Given the description of an element on the screen output the (x, y) to click on. 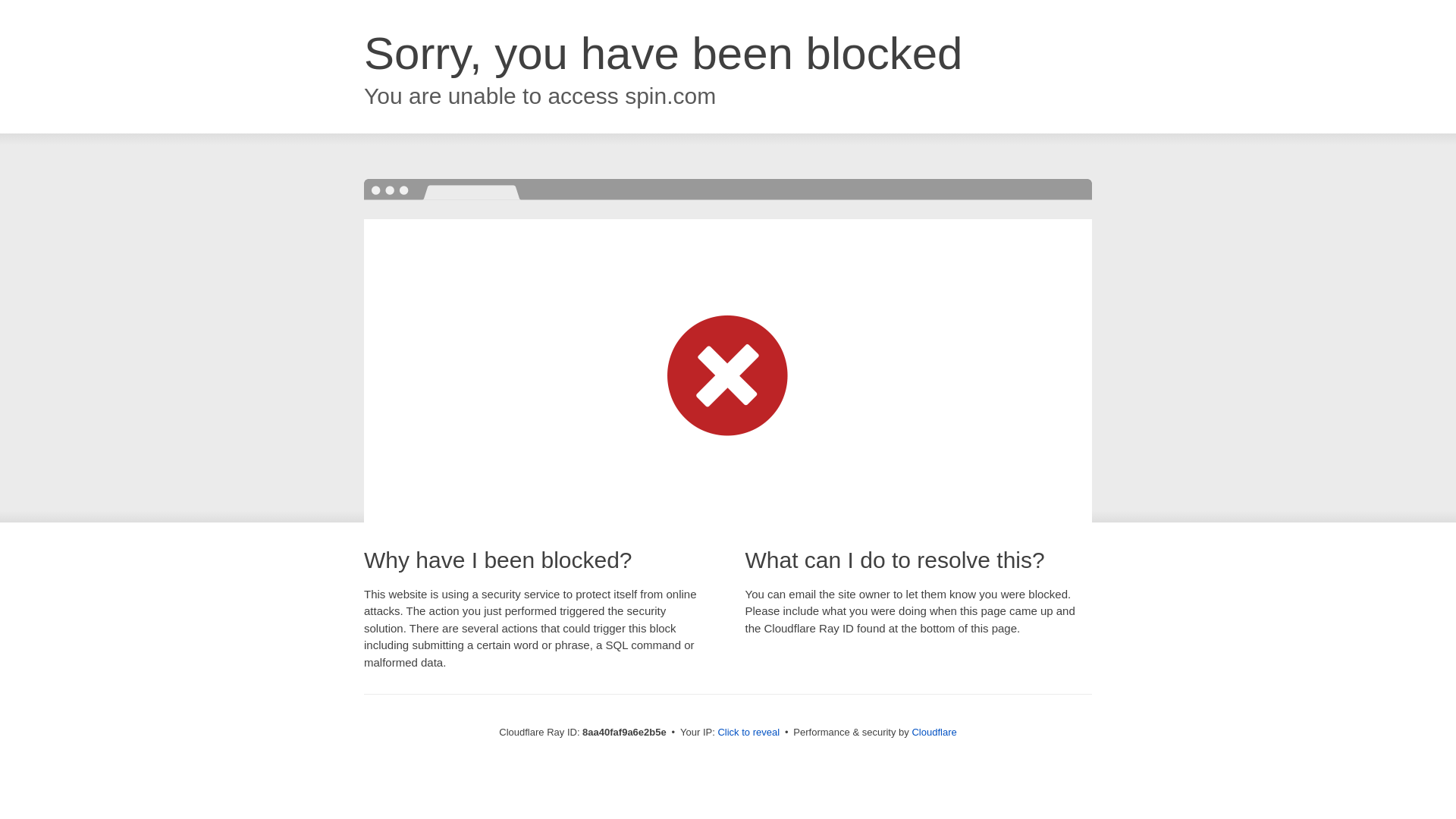
Click to reveal (747, 732)
Cloudflare (933, 731)
